Given the description of an element on the screen output the (x, y) to click on. 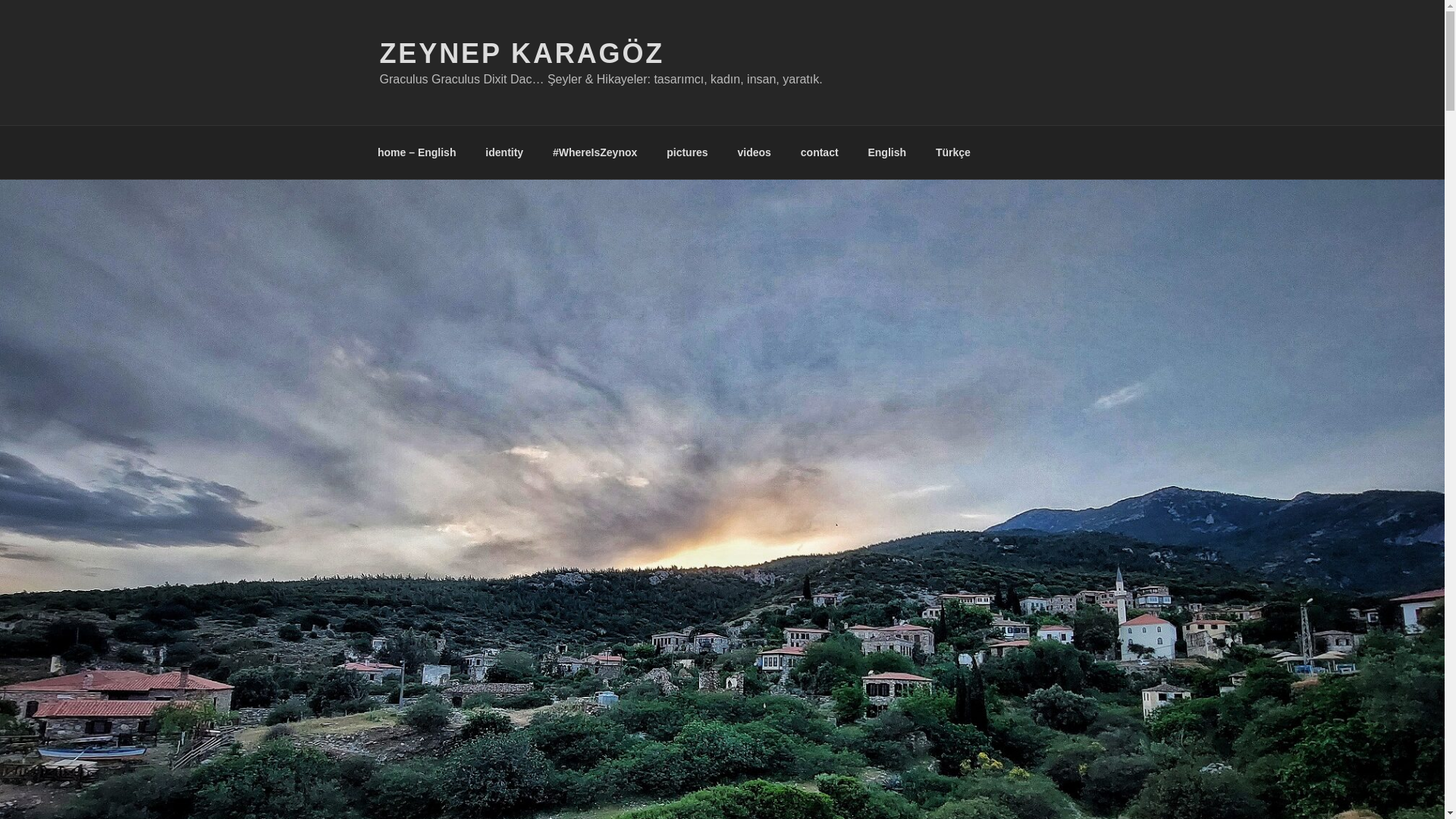
videos (753, 151)
pictures (686, 151)
identity (504, 151)
contact (819, 151)
English (887, 151)
